Given the description of an element on the screen output the (x, y) to click on. 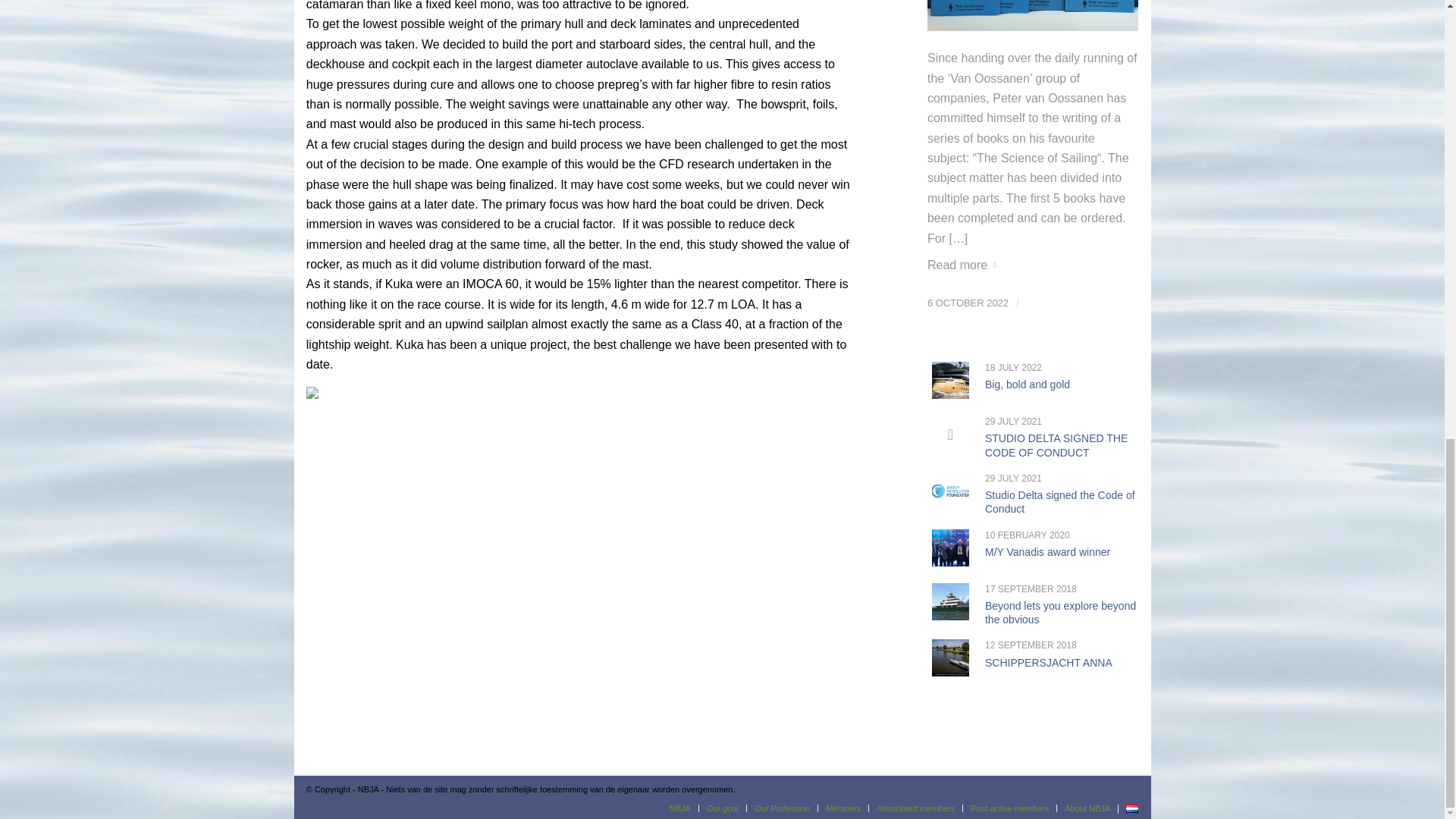
Our goal (722, 808)
NBJA (679, 808)
Our Profession (781, 808)
